Given the description of an element on the screen output the (x, y) to click on. 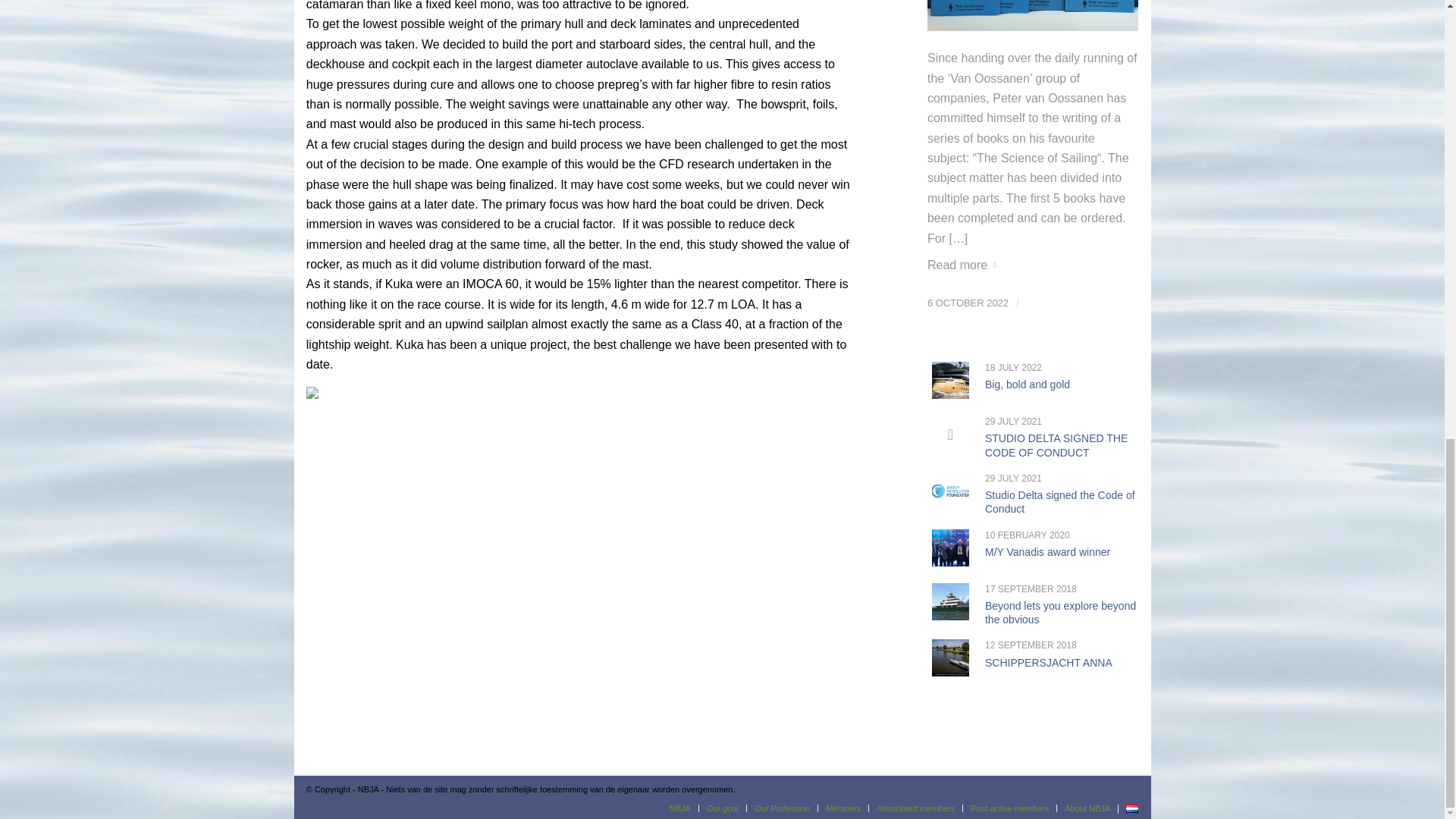
Our goal (722, 808)
NBJA (679, 808)
Our Profession (781, 808)
